Given the description of an element on the screen output the (x, y) to click on. 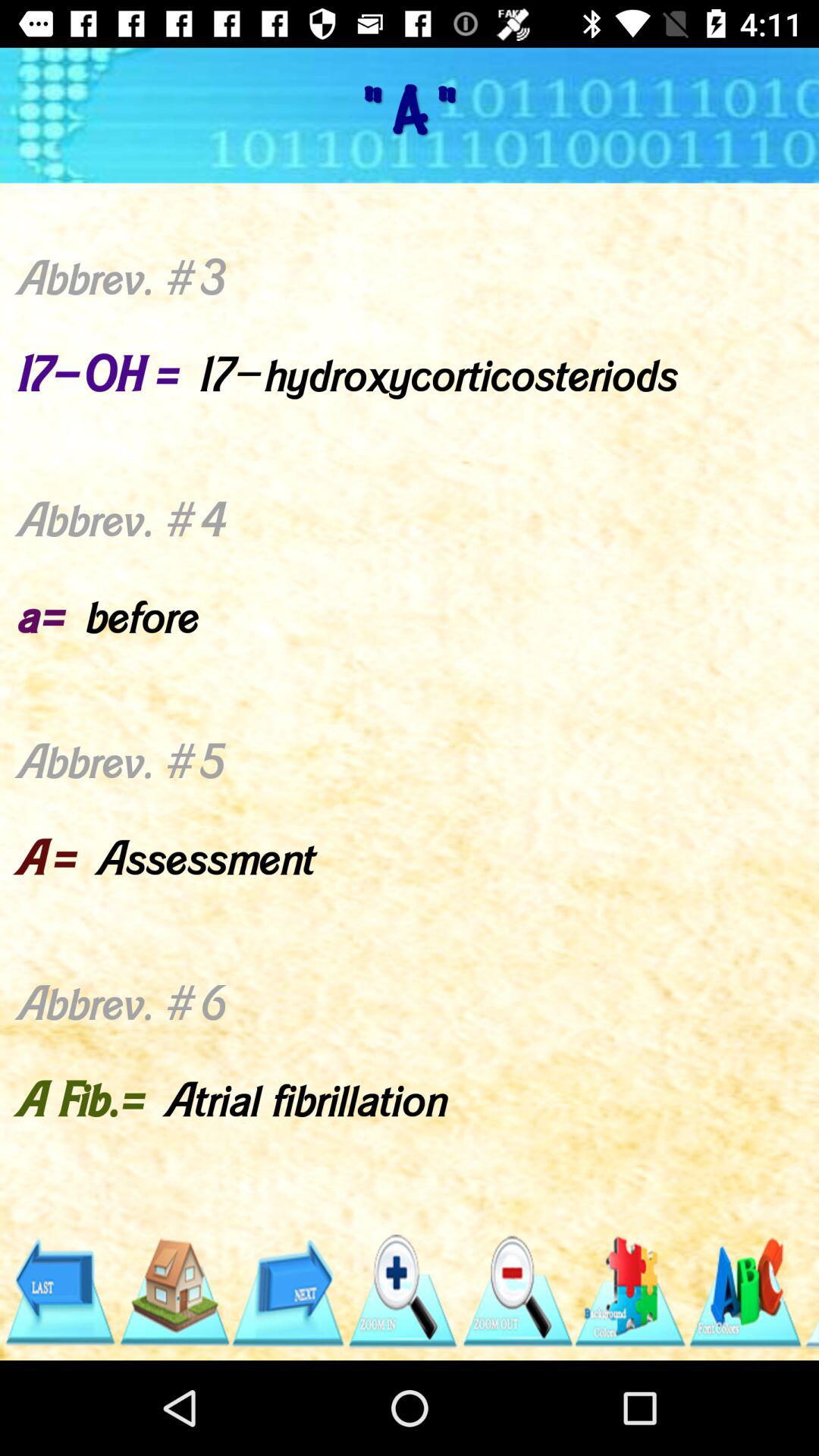
goes to settings (630, 1291)
